Given the description of an element on the screen output the (x, y) to click on. 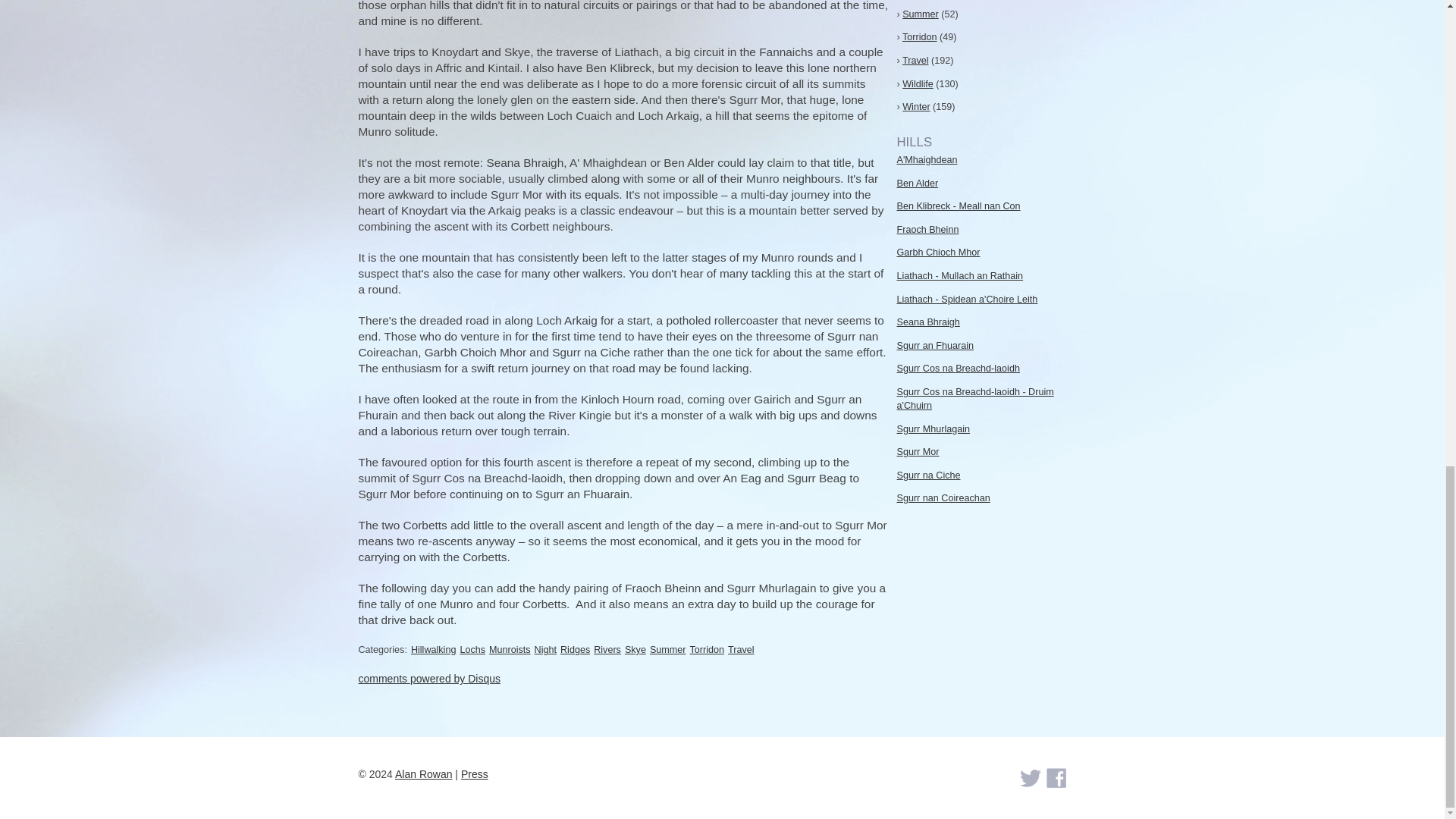
Skye (635, 649)
Lochs (472, 649)
Munroists (510, 649)
Night (545, 649)
Torridon (707, 649)
Ridges (574, 649)
Summer (667, 649)
Travel (741, 649)
Rivers (607, 649)
Hillwalking (433, 649)
comments powered by Disqus (429, 678)
